Given the description of an element on the screen output the (x, y) to click on. 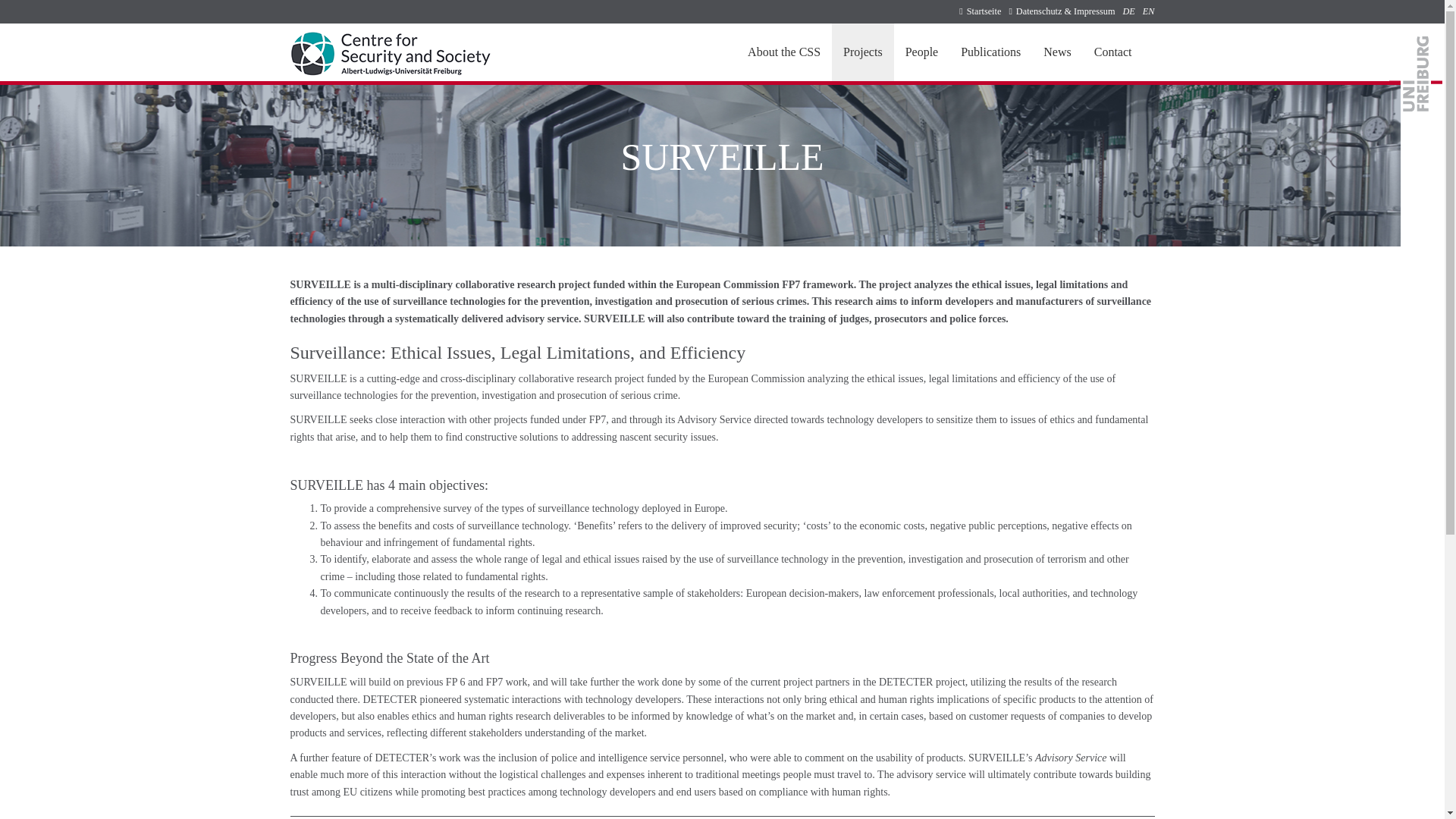
DE (1128, 10)
People (922, 52)
Projects (862, 52)
About the CSS (784, 52)
Contact (1113, 52)
News (1056, 52)
Publications (990, 52)
Startseite (980, 11)
Projects (862, 52)
EN (1148, 10)
About the CSS (784, 52)
